Given the description of an element on the screen output the (x, y) to click on. 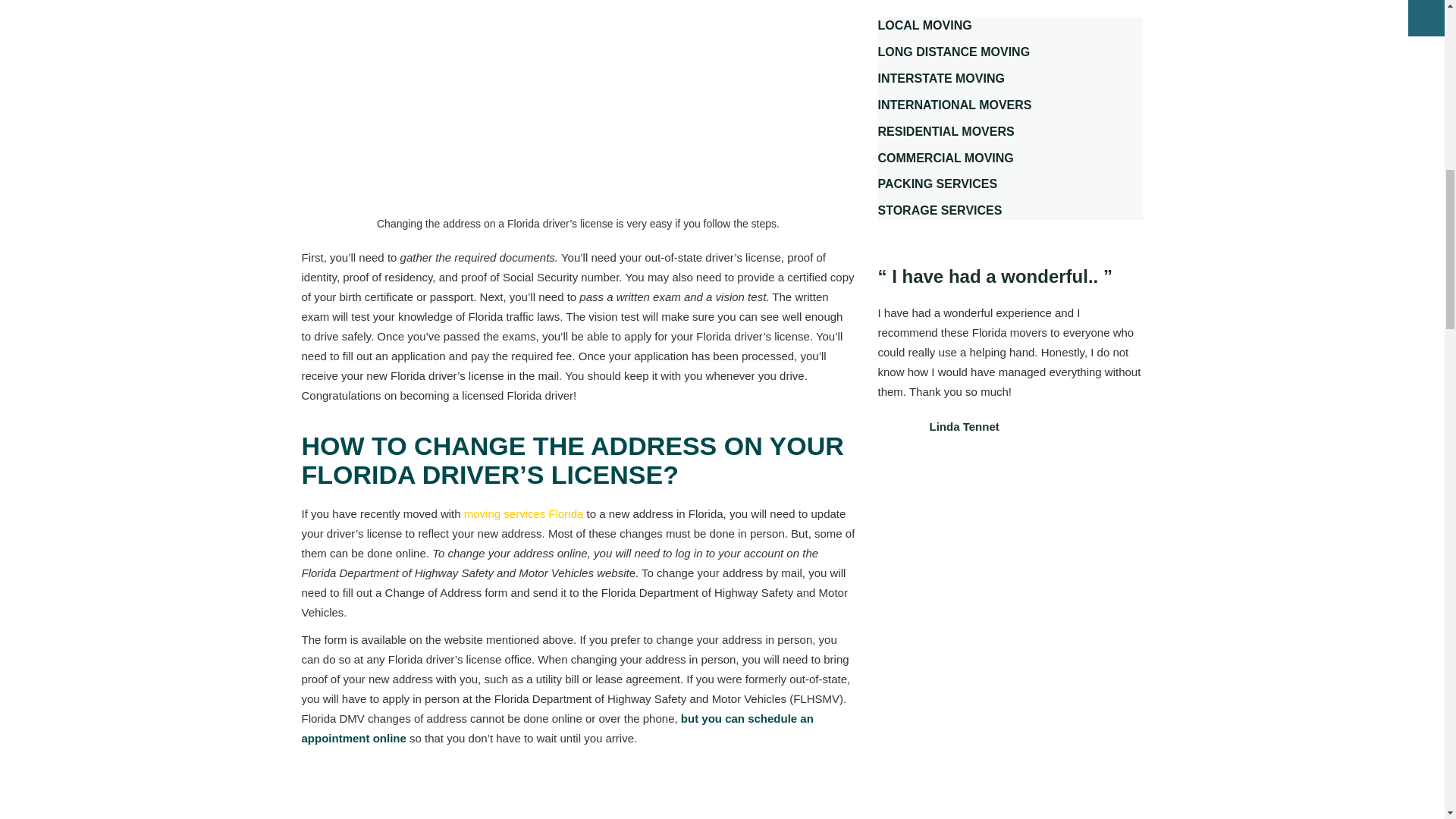
LONG DISTANCE MOVING (953, 51)
COMMERCIAL MOVING (945, 157)
INTERNATIONAL MOVERS (954, 104)
INTERSTATE MOVING (940, 78)
moving services Florida (523, 513)
LOCAL MOVING (924, 24)
RESIDENTIAL MOVERS (945, 131)
